Given the description of an element on the screen output the (x, y) to click on. 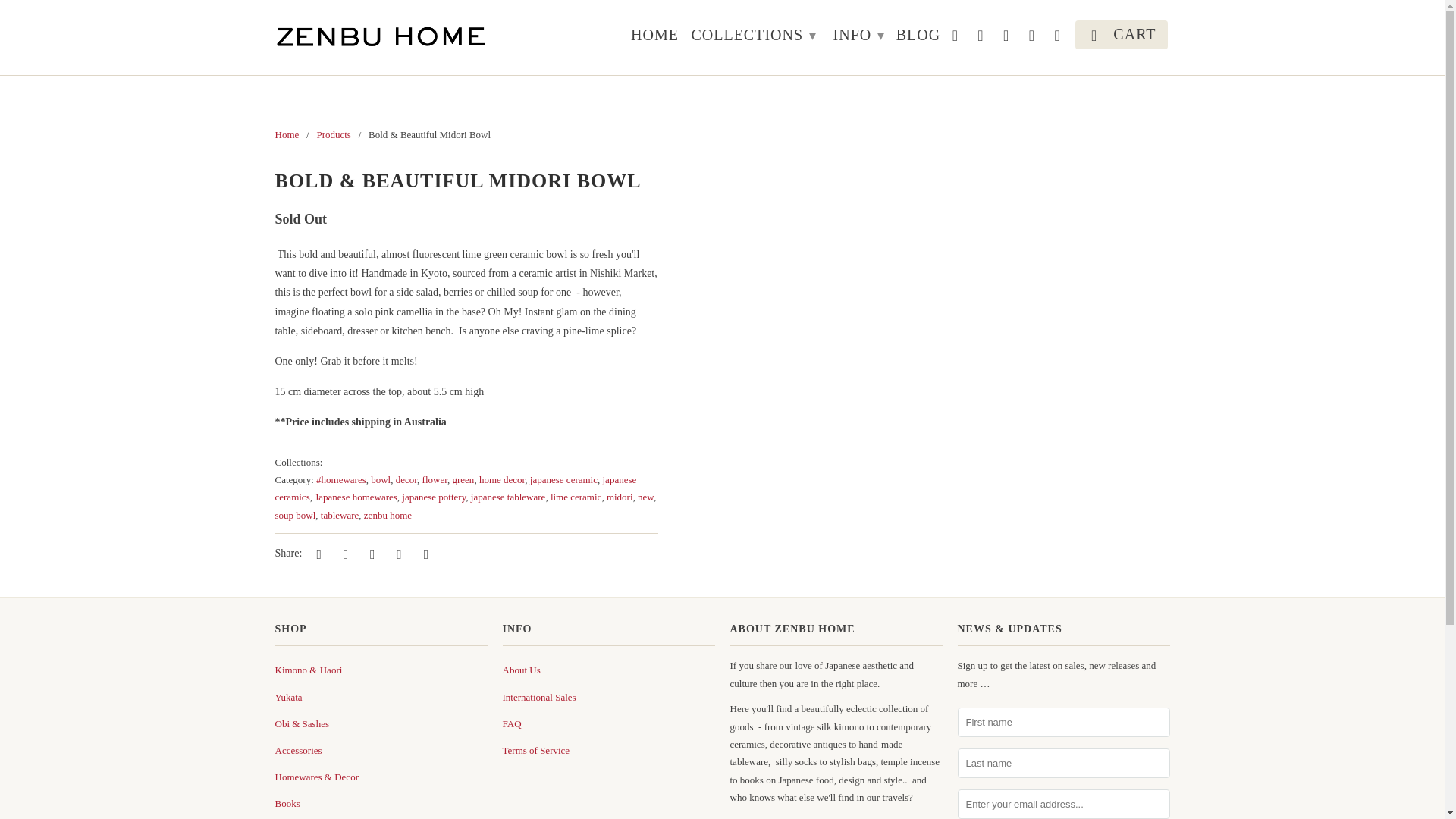
Products tagged japanese ceramics (455, 488)
Products tagged flower (434, 479)
Products (332, 134)
Zenbu Home (380, 37)
Zenbu Home (286, 134)
Products tagged bowl (380, 479)
Products tagged home decor (501, 479)
Products tagged decor (406, 479)
Products tagged japanese ceramic (562, 479)
HOME (654, 37)
